Given the description of an element on the screen output the (x, y) to click on. 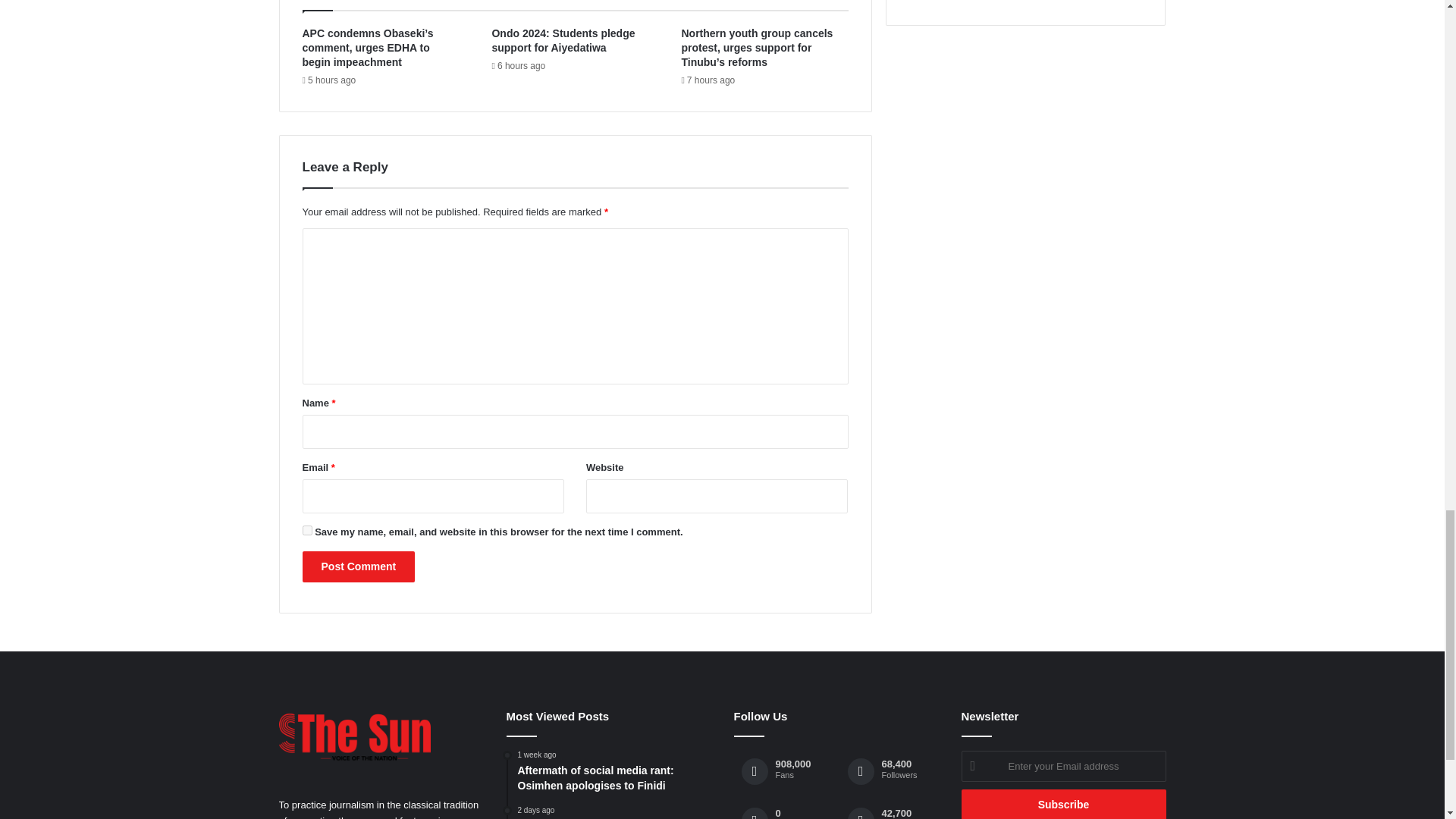
Subscribe (1063, 804)
Post Comment (357, 566)
yes (306, 530)
